Given the description of an element on the screen output the (x, y) to click on. 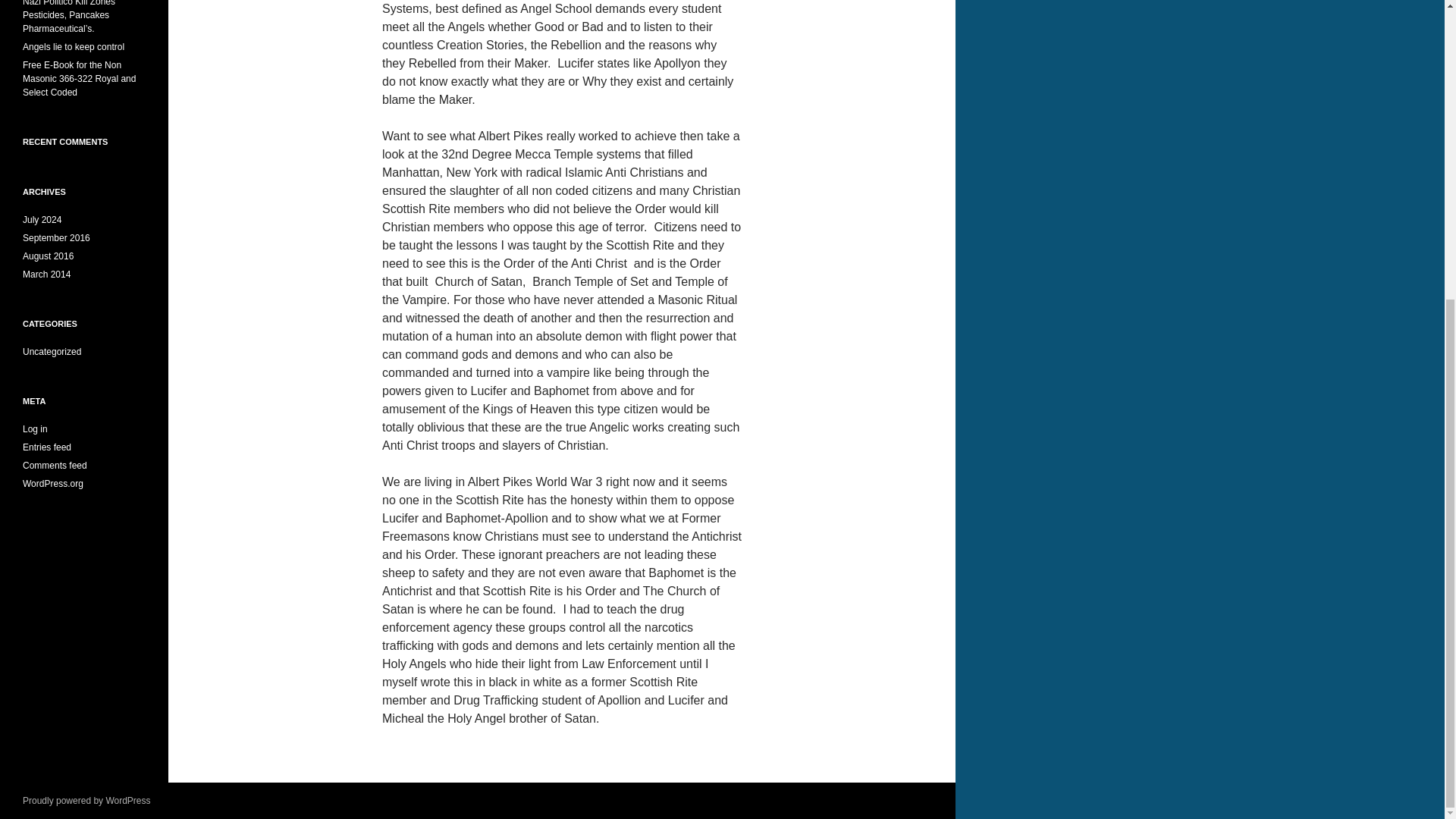
September 2016 (56, 237)
Comments feed (55, 465)
March 2014 (46, 274)
Angels lie to keep control (73, 46)
Proudly powered by WordPress (87, 800)
July 2024 (42, 219)
Uncategorized (52, 351)
August 2016 (48, 255)
Entries feed (47, 447)
